Given the description of an element on the screen output the (x, y) to click on. 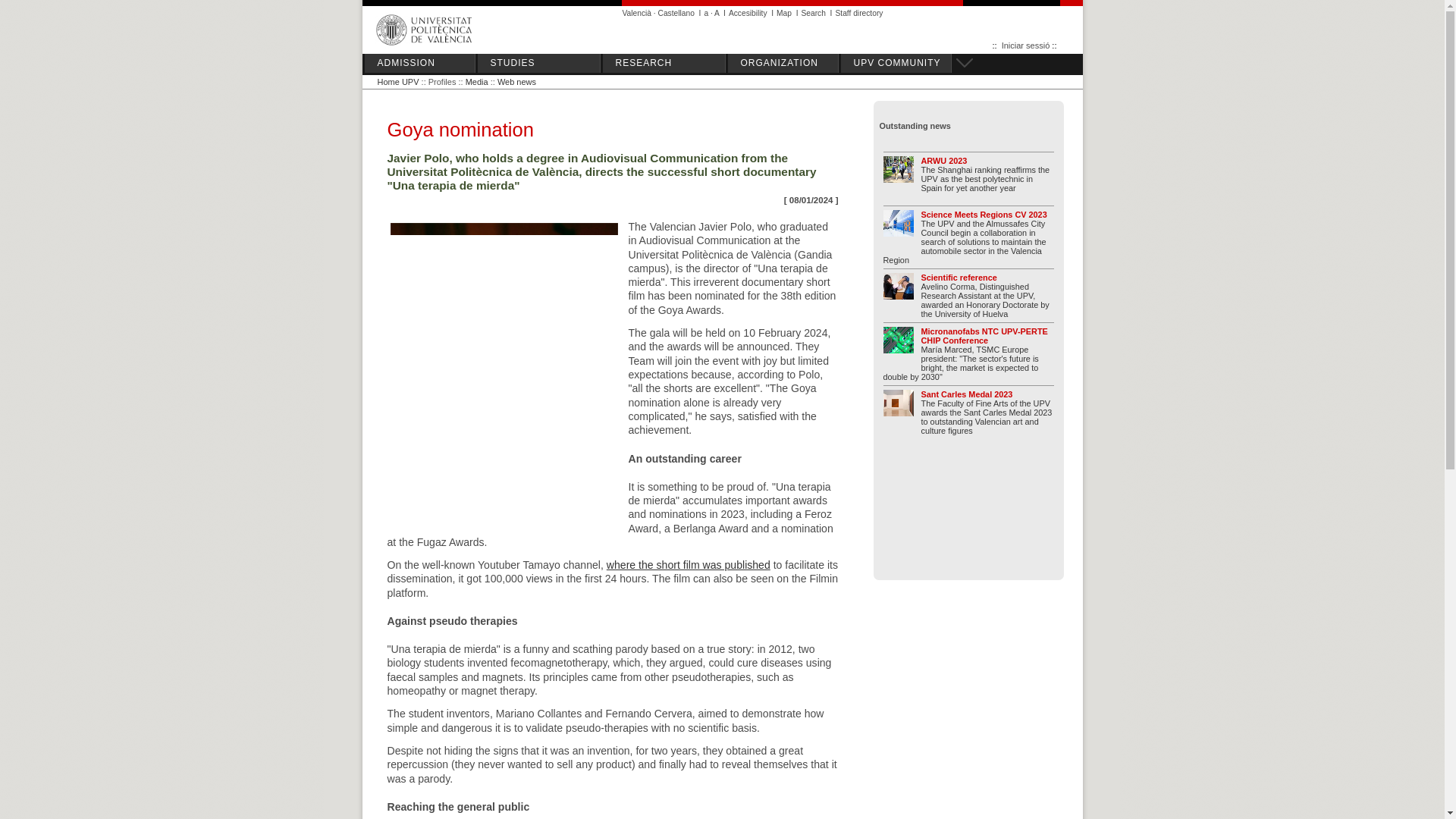
UPV COMMUNITY (897, 63)
RESEARCH (665, 63)
Science Meets Regions CV 2023 (901, 228)
Map (784, 13)
Staff directory (858, 13)
Search (812, 13)
Science Meets Regions CV 2023 (983, 214)
Accesibility (748, 13)
ARWU 2023 (901, 175)
ADMISSION (421, 63)
STUDIES (541, 63)
Directory (858, 13)
Web Map (784, 13)
Search engine (812, 13)
ORGANIZATION (785, 63)
